Given the description of an element on the screen output the (x, y) to click on. 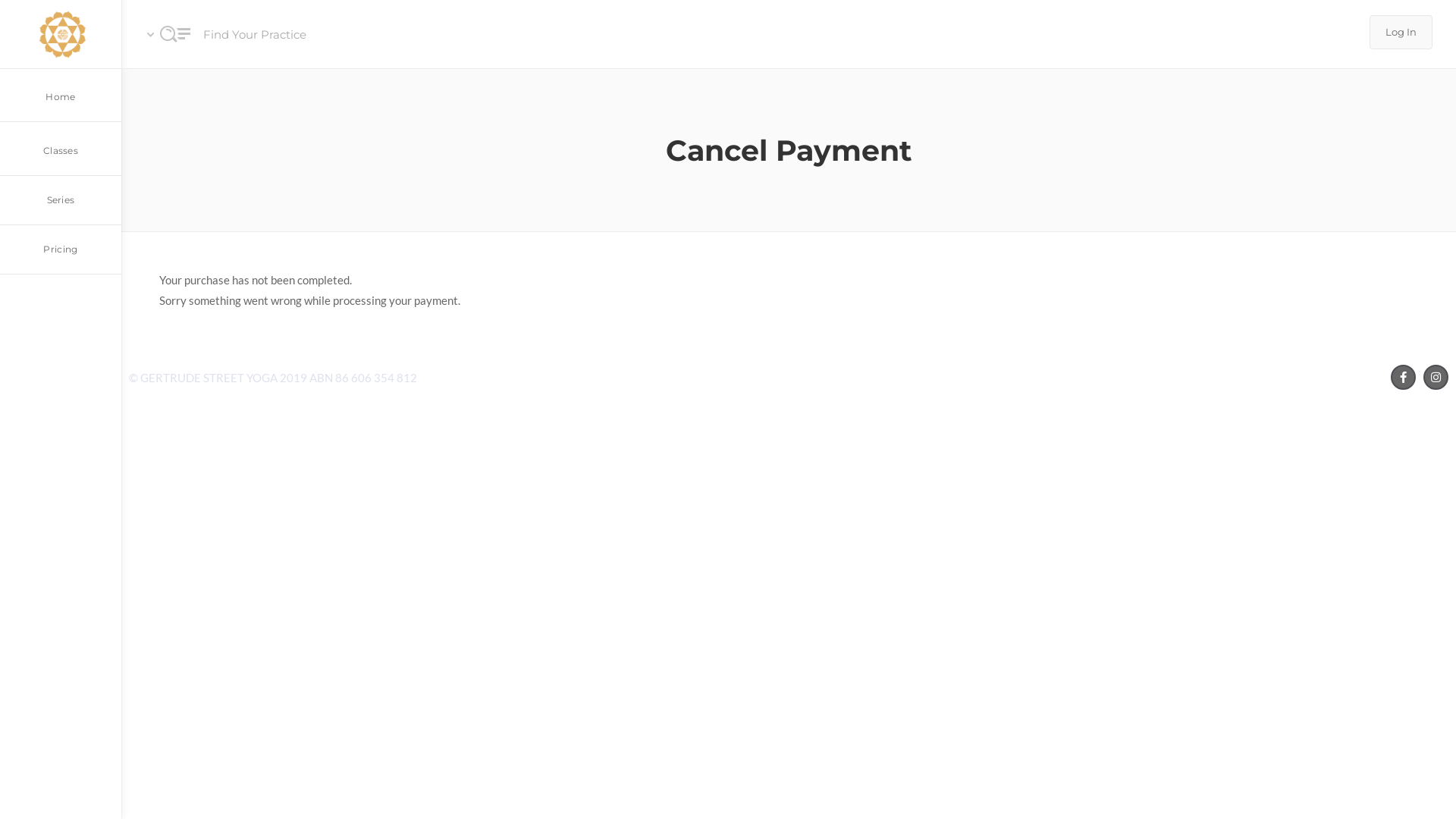
Pricing Element type: text (60, 249)
Filter Search Element type: text (753, 308)
GSY Online Element type: hover (60, 34)
Home Element type: text (60, 95)
Log In Element type: text (1400, 32)
Classes Element type: text (60, 148)
Series Element type: text (60, 200)
